Given the description of an element on the screen output the (x, y) to click on. 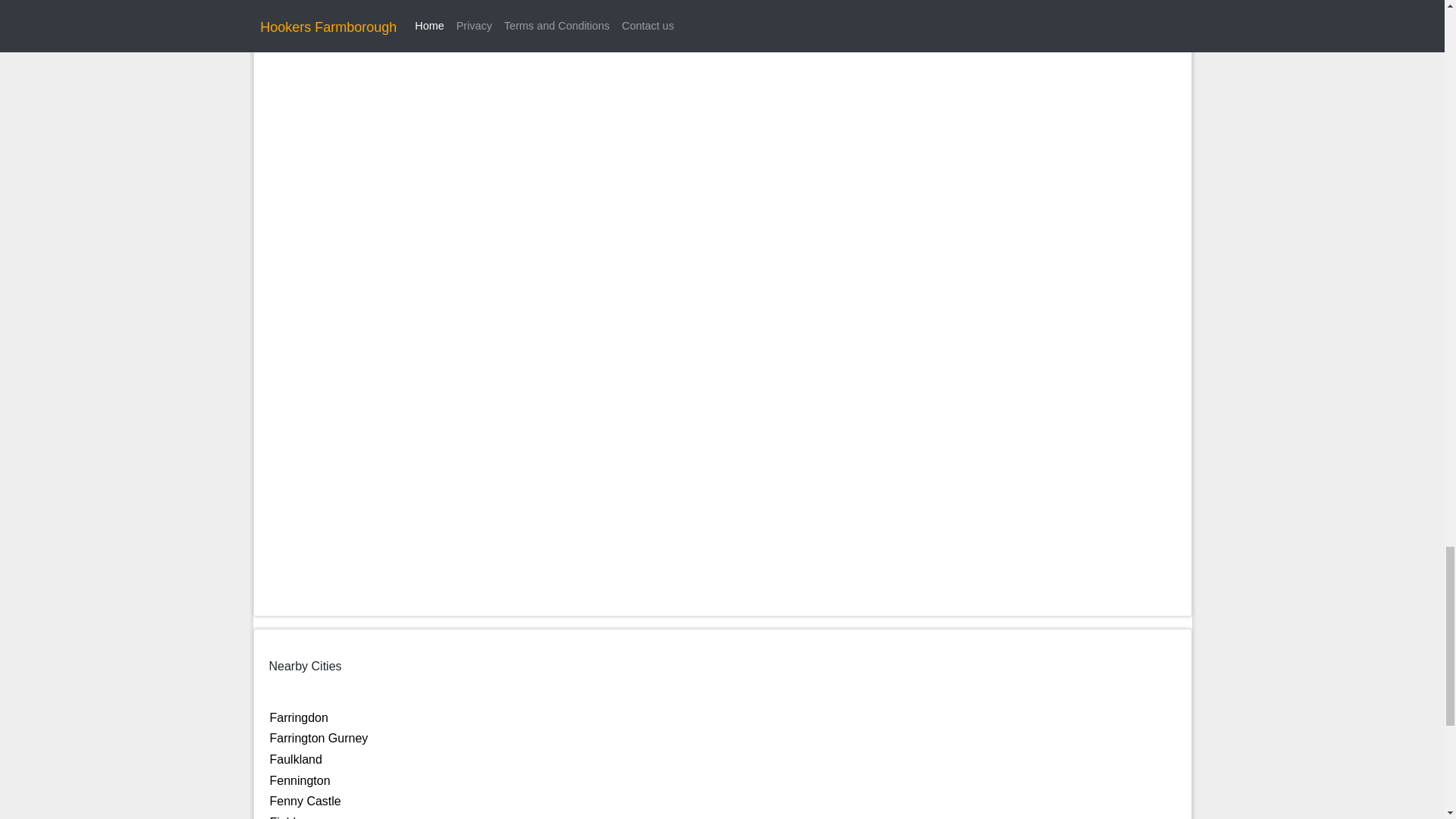
Farringdon (299, 717)
Farrington Gurney (318, 738)
Faulkland (295, 758)
Fenny Castle (304, 800)
Field (283, 817)
Fennington (299, 780)
